Given the description of an element on the screen output the (x, y) to click on. 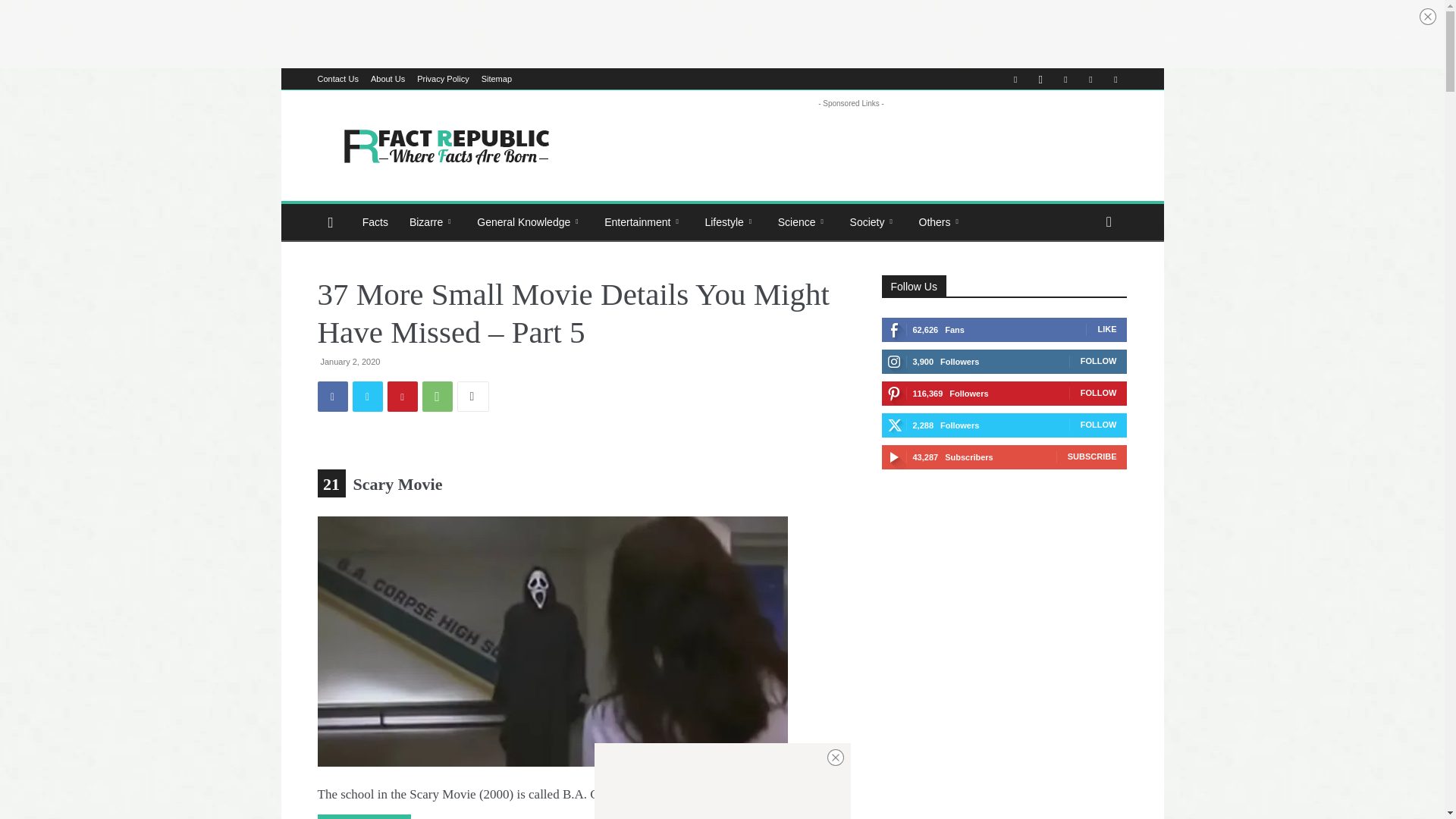
Twitter (366, 396)
Youtube (1114, 78)
3rd party ad content (721, 33)
Facebook (332, 396)
Instagram (1040, 78)
Facebook (1015, 78)
Where Facts Are Born (445, 145)
Pinterest (1065, 78)
Twitter (1090, 78)
